Given the description of an element on the screen output the (x, y) to click on. 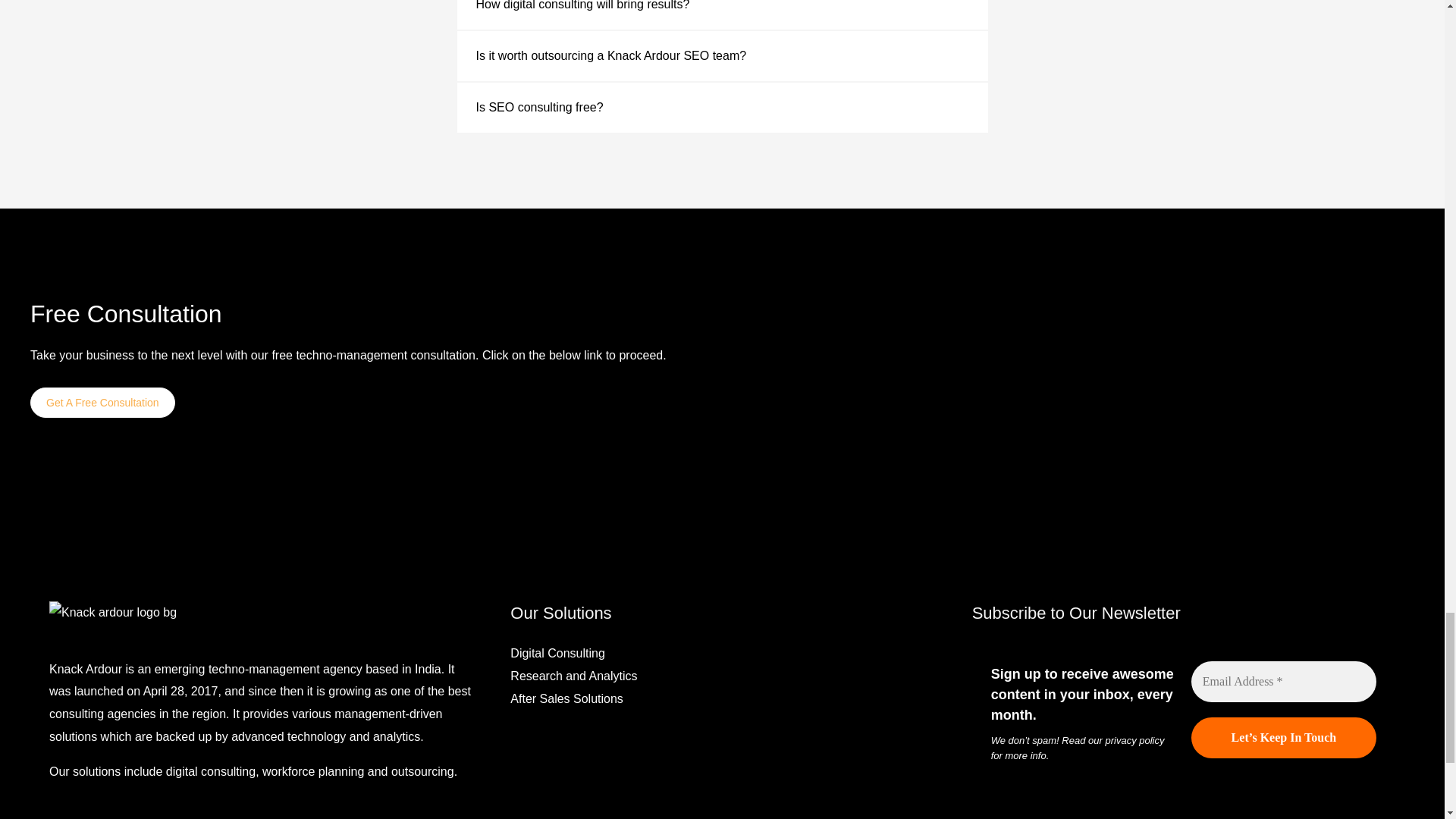
Digital Consulting (558, 653)
After Sales Solutions (567, 698)
Is SEO consulting free? (540, 106)
privacy policy (1134, 740)
Get A Free Consultation (102, 402)
Is it worth outsourcing a Knack Ardour SEO team? (611, 55)
Research and Analytics (574, 675)
Email Address (1283, 680)
How digital consulting will bring results? (583, 5)
